Given the description of an element on the screen output the (x, y) to click on. 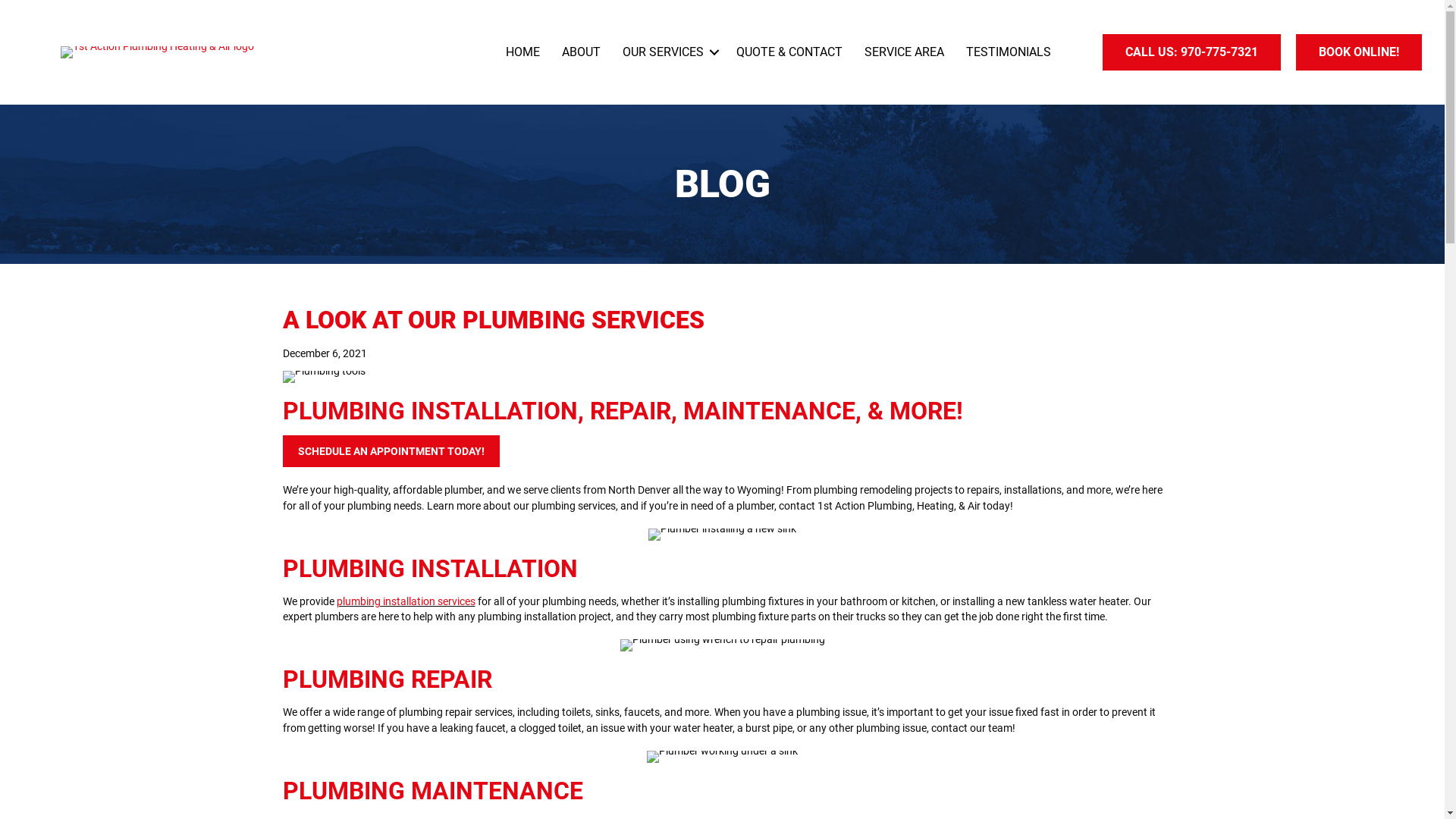
1200x900GMB-1-61ae39e38f3d6 Element type: hover (722, 534)
TESTIMONIALS Element type: text (1008, 52)
OUR SERVICES Element type: text (667, 52)
plumbing installation services Element type: text (405, 601)
HOME Element type: text (522, 52)
CALL US: 970-775-7321 Element type: text (1191, 52)
1aphalogo-5d483f2ba825c Element type: hover (157, 52)
FT-Img-61ae3941b8166 Element type: hover (323, 376)
SERVICE AREA Element type: text (903, 52)
ABOUT Element type: text (581, 52)
1200x900GMB-3-61ae39e883498 Element type: hover (721, 756)
BOOK ONLINE! Element type: text (1358, 52)
1200x900GMB-2-61ae39e5e8c9b Element type: hover (722, 645)
QUOTE & CONTACT Element type: text (789, 52)
SCHEDULE AN APPOINTMENT TODAY! Element type: text (390, 451)
